Given the description of an element on the screen output the (x, y) to click on. 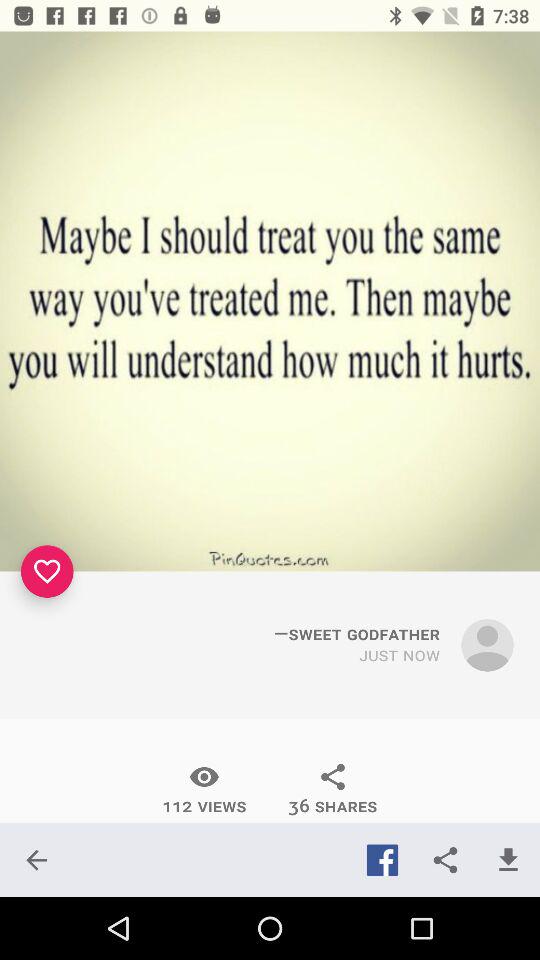
choose 36 shares icon (332, 789)
